Given the description of an element on the screen output the (x, y) to click on. 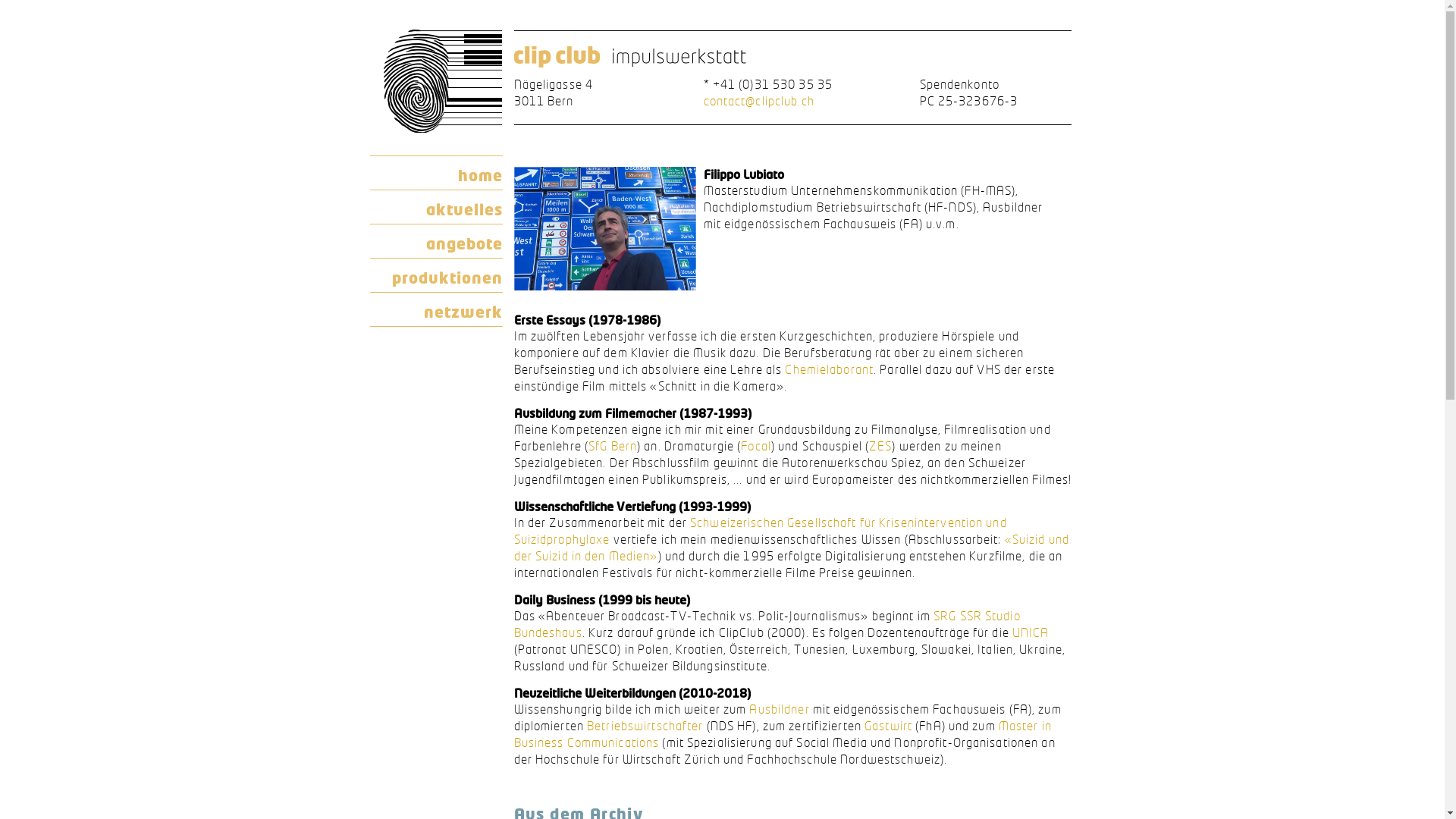
home Element type: text (436, 172)
Gastwirt Element type: text (888, 725)
SRG SSR Studio Bundeshaus Element type: text (767, 624)
aktuelles Element type: text (436, 206)
netzwerk Element type: text (436, 309)
Betriebswirtschafter Element type: text (644, 725)
clip club impulswerkstatt Element type: text (630, 57)
UNICA Element type: text (1030, 632)
Chemielaborant Element type: text (828, 368)
Ausbildner Element type: text (779, 708)
SfG Bern Element type: text (612, 445)
produktionen Element type: text (436, 274)
Focal Element type: text (755, 445)
Master in Business Communications Element type: text (782, 733)
ZES Element type: text (880, 445)
contact@clipclub.ch Element type: text (758, 100)
angebote Element type: text (436, 240)
